Given the description of an element on the screen output the (x, y) to click on. 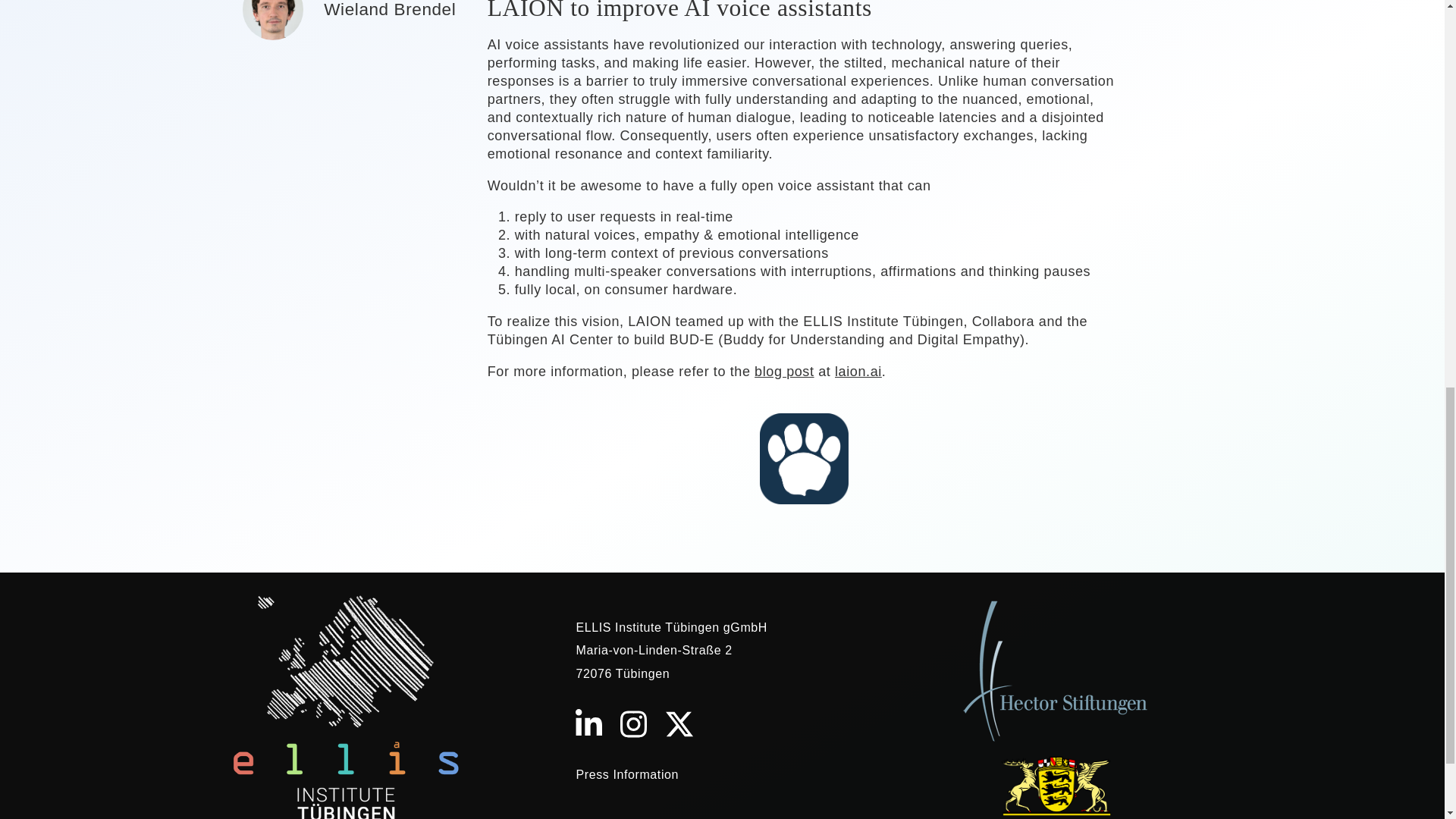
Press Information (626, 774)
Wieland Brendel (389, 9)
laion.ai (858, 371)
blog post (783, 371)
